Given the description of an element on the screen output the (x, y) to click on. 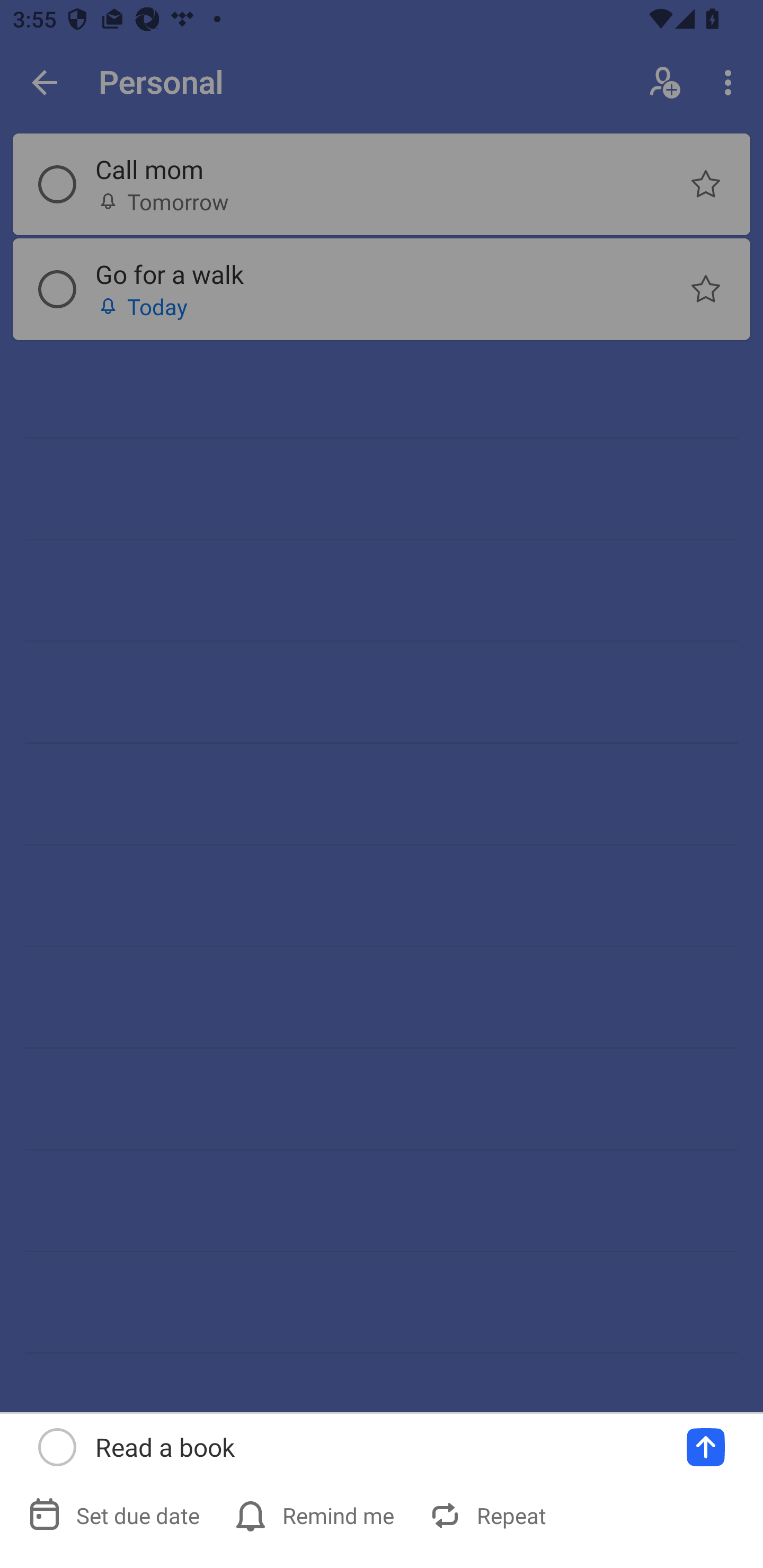
Remind me (315, 1515)
